Given the description of an element on the screen output the (x, y) to click on. 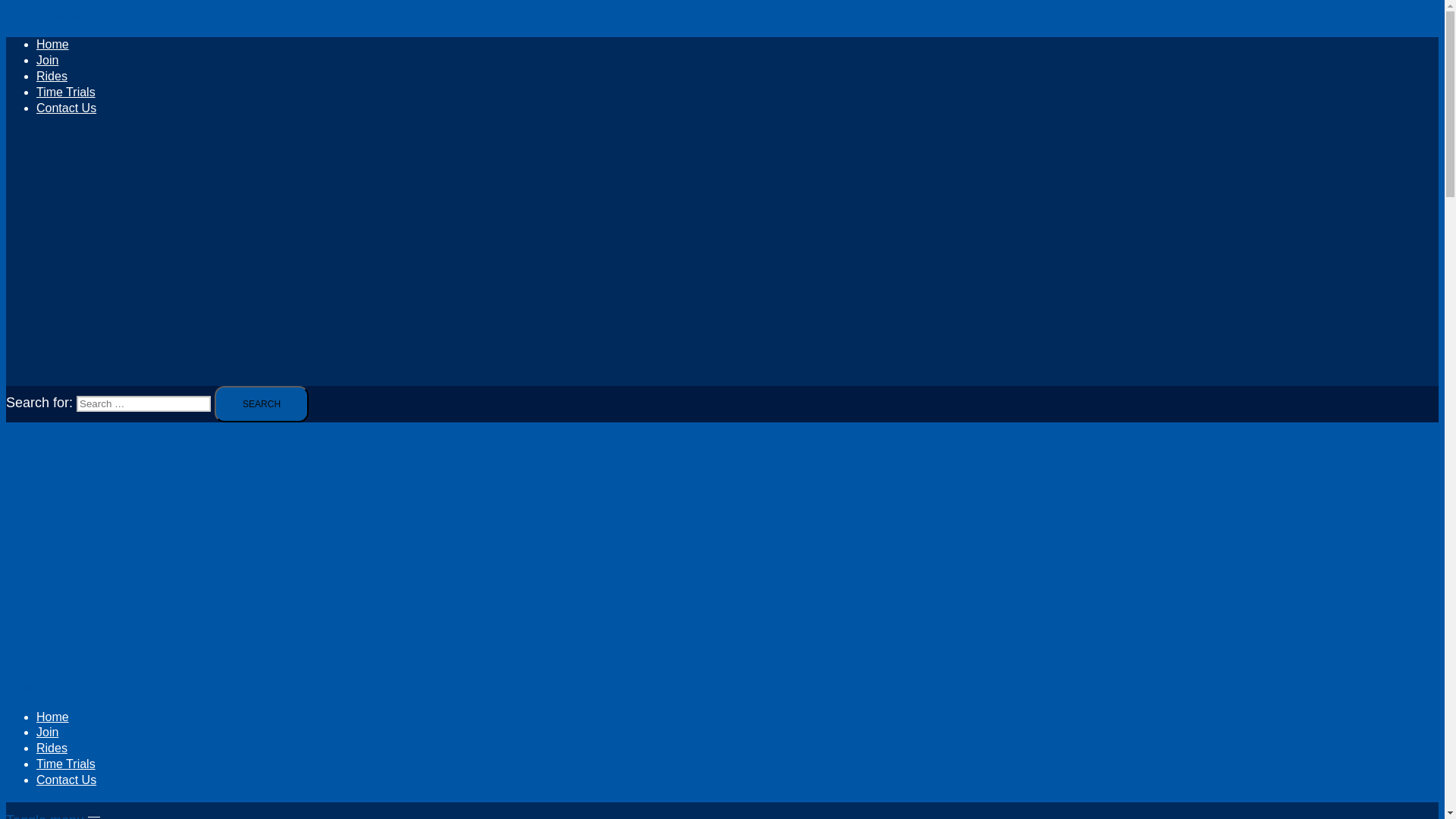
Search (261, 403)
Time Trials (66, 763)
Close menu (47, 685)
Contact Us (66, 780)
Home (52, 716)
Rides (51, 75)
Search (261, 403)
Join (47, 731)
Toggle menu (52, 816)
Skip to content (50, 14)
